Given the description of an element on the screen output the (x, y) to click on. 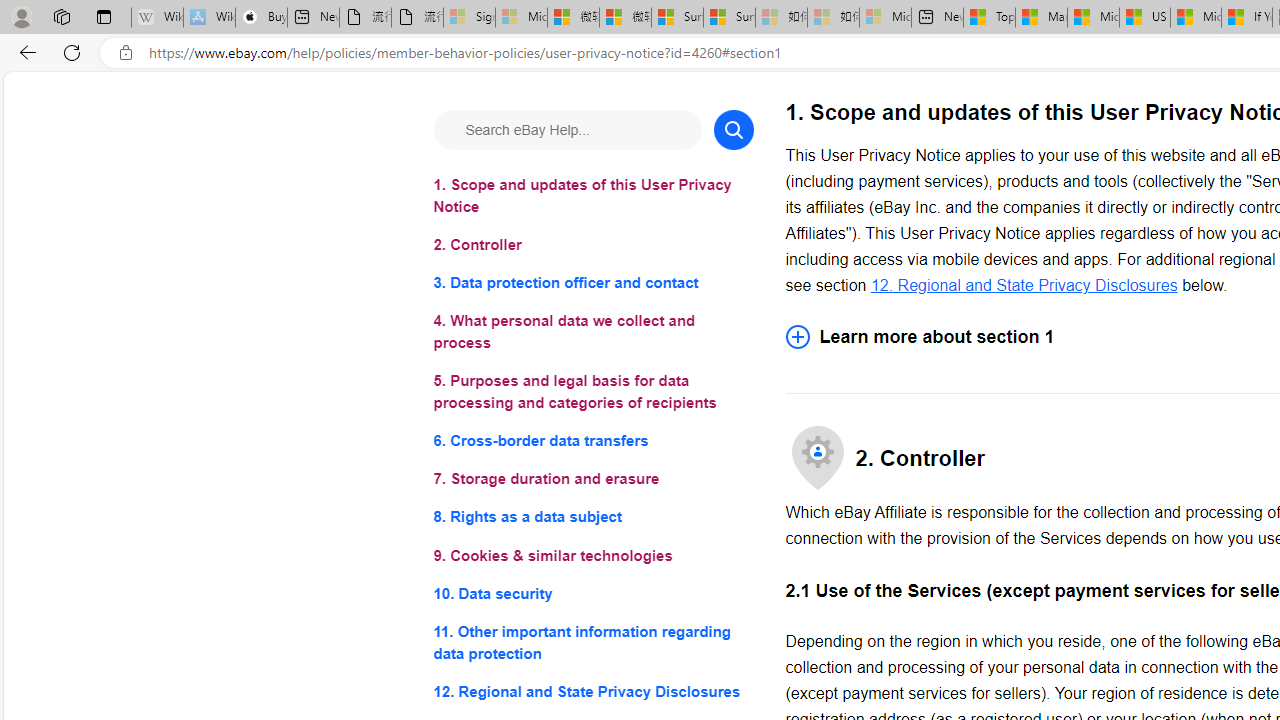
1. Scope and updates of this User Privacy Notice (592, 196)
2. Controller (592, 245)
Microsoft Services Agreement - Sleeping (520, 17)
US Heat Deaths Soared To Record High Last Year (1144, 17)
12. Regional and State Privacy Disclosures (592, 690)
4. What personal data we collect and process (592, 332)
12. Regional and State Privacy Disclosures (1023, 284)
